Given the description of an element on the screen output the (x, y) to click on. 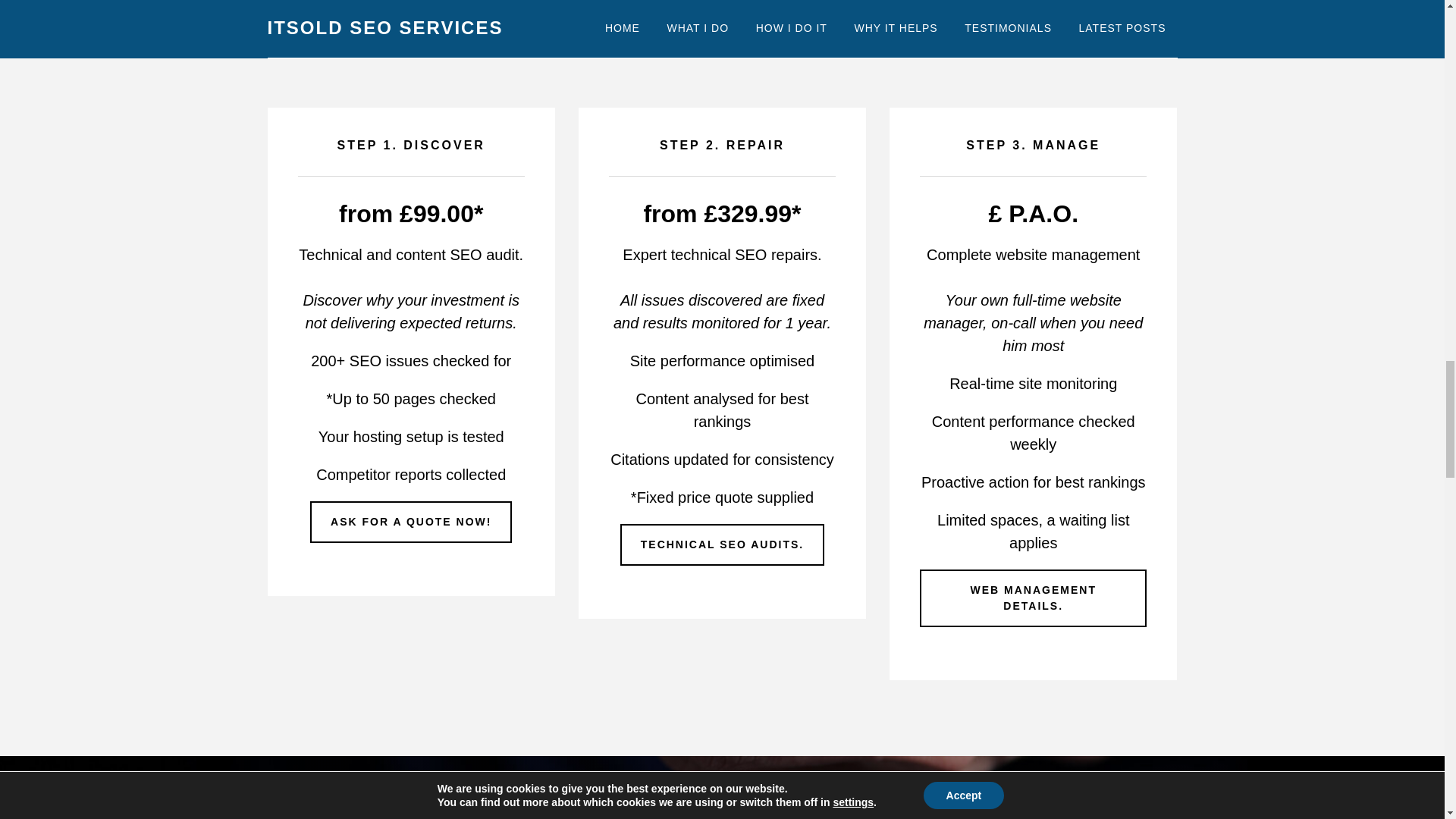
Quote and free report supplied without obligation (411, 521)
TECHNICAL SEO AUDITS. (722, 544)
ASK FOR A QUOTE NOW! (411, 521)
Technical SEO audit details (722, 544)
WEB MANAGEMENT DETAILS. (1033, 598)
Website management services explained (1033, 598)
